Given the description of an element on the screen output the (x, y) to click on. 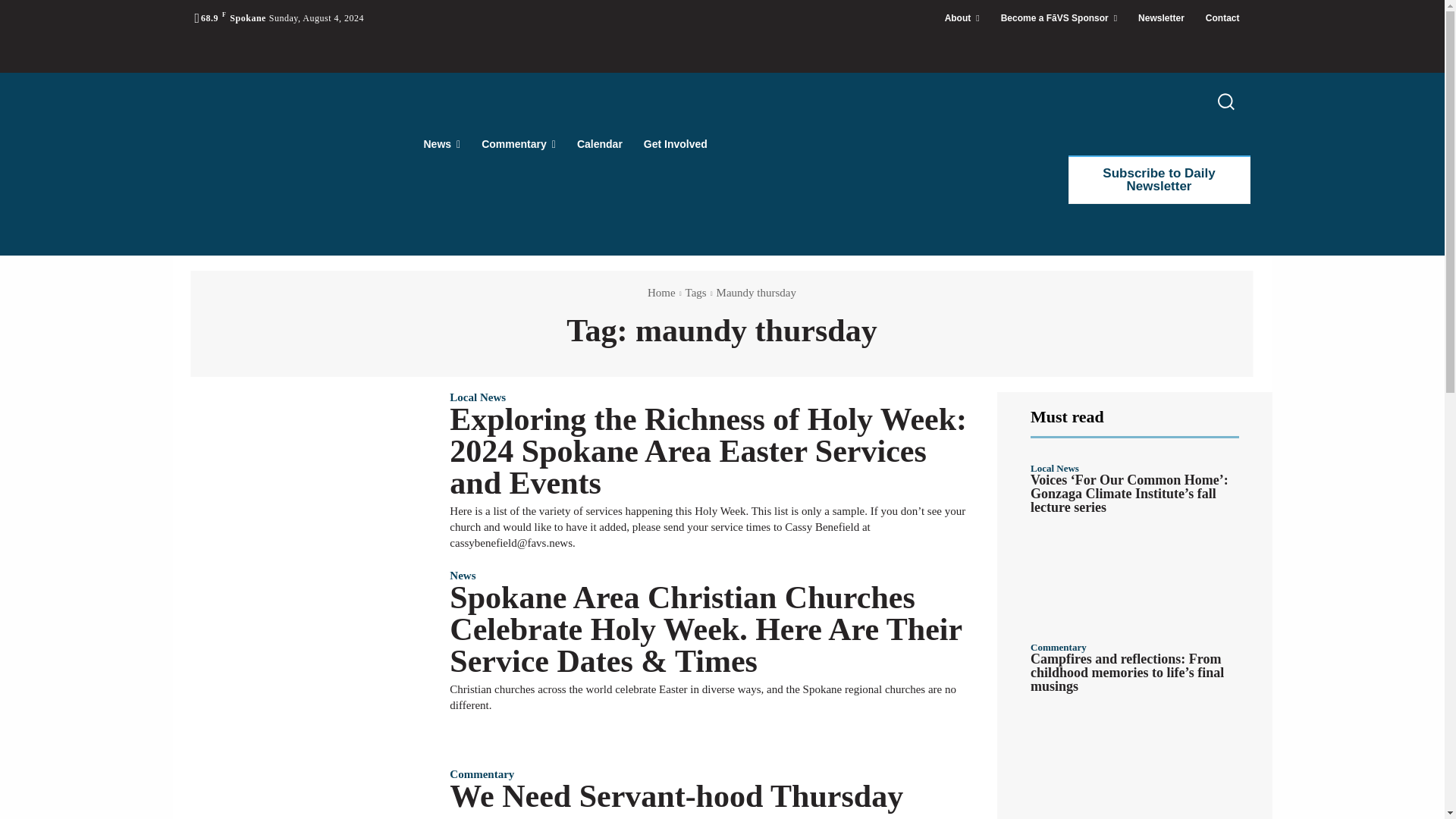
News (441, 144)
Newsletter (1160, 18)
About (962, 18)
Contact (1222, 18)
